Given the description of an element on the screen output the (x, y) to click on. 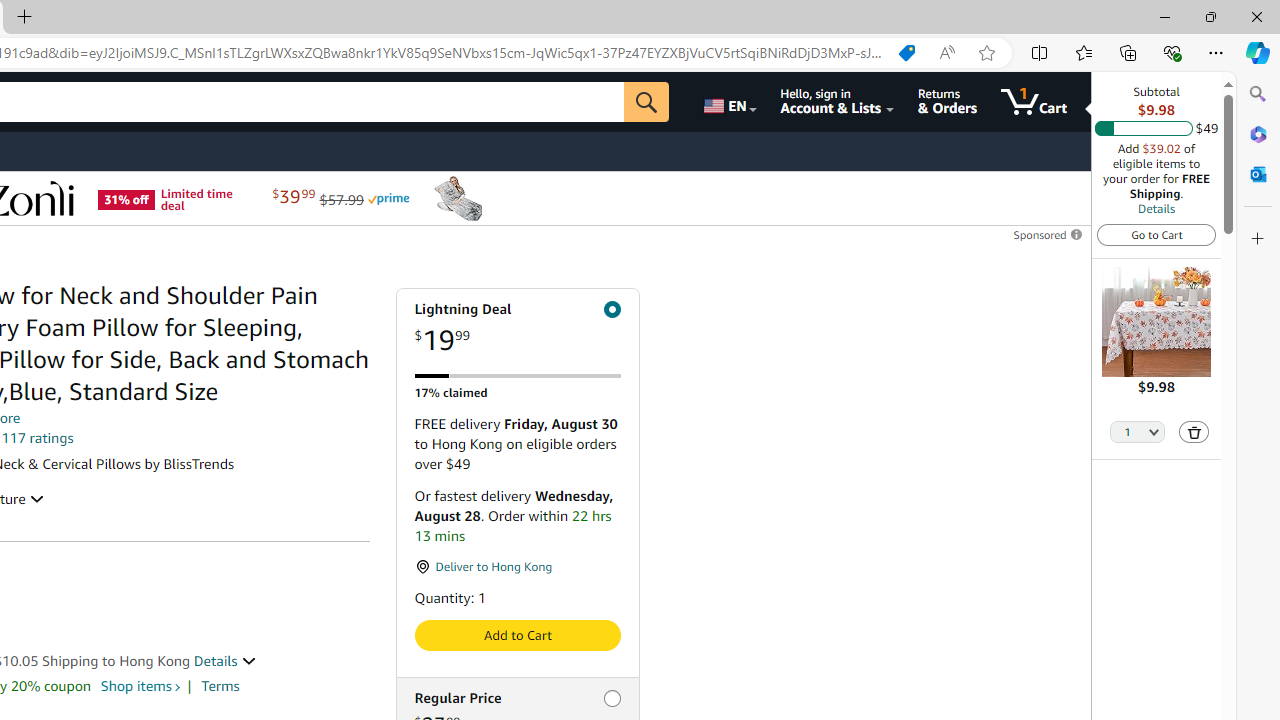
Terms (219, 686)
Add to Cart (516, 635)
Details  (225, 660)
Hello, sign in Account & Lists (836, 101)
You have the best price! (906, 53)
Delete (1194, 431)
Choose a language for shopping. (728, 101)
